Given the description of an element on the screen output the (x, y) to click on. 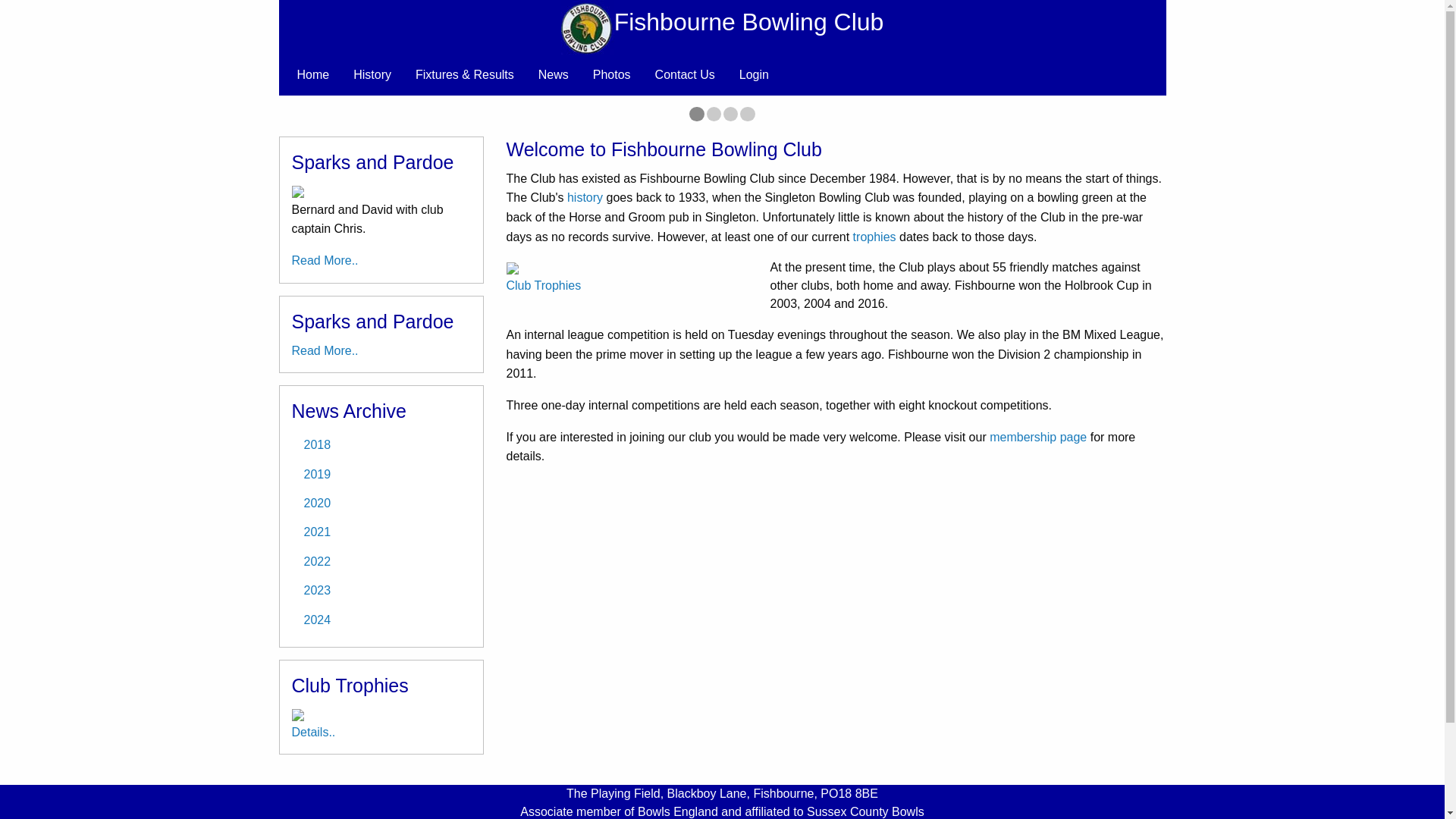
2021 (380, 532)
2022 (380, 561)
2020 (380, 502)
Read More.. (324, 259)
trophies (695, 114)
Contact Us (874, 236)
Club Trophies (684, 74)
2024 (543, 285)
1614941855 (380, 619)
Read More.. (730, 114)
membership page (324, 350)
2023 (1038, 436)
History (380, 590)
1507157112 (371, 74)
